Given the description of an element on the screen output the (x, y) to click on. 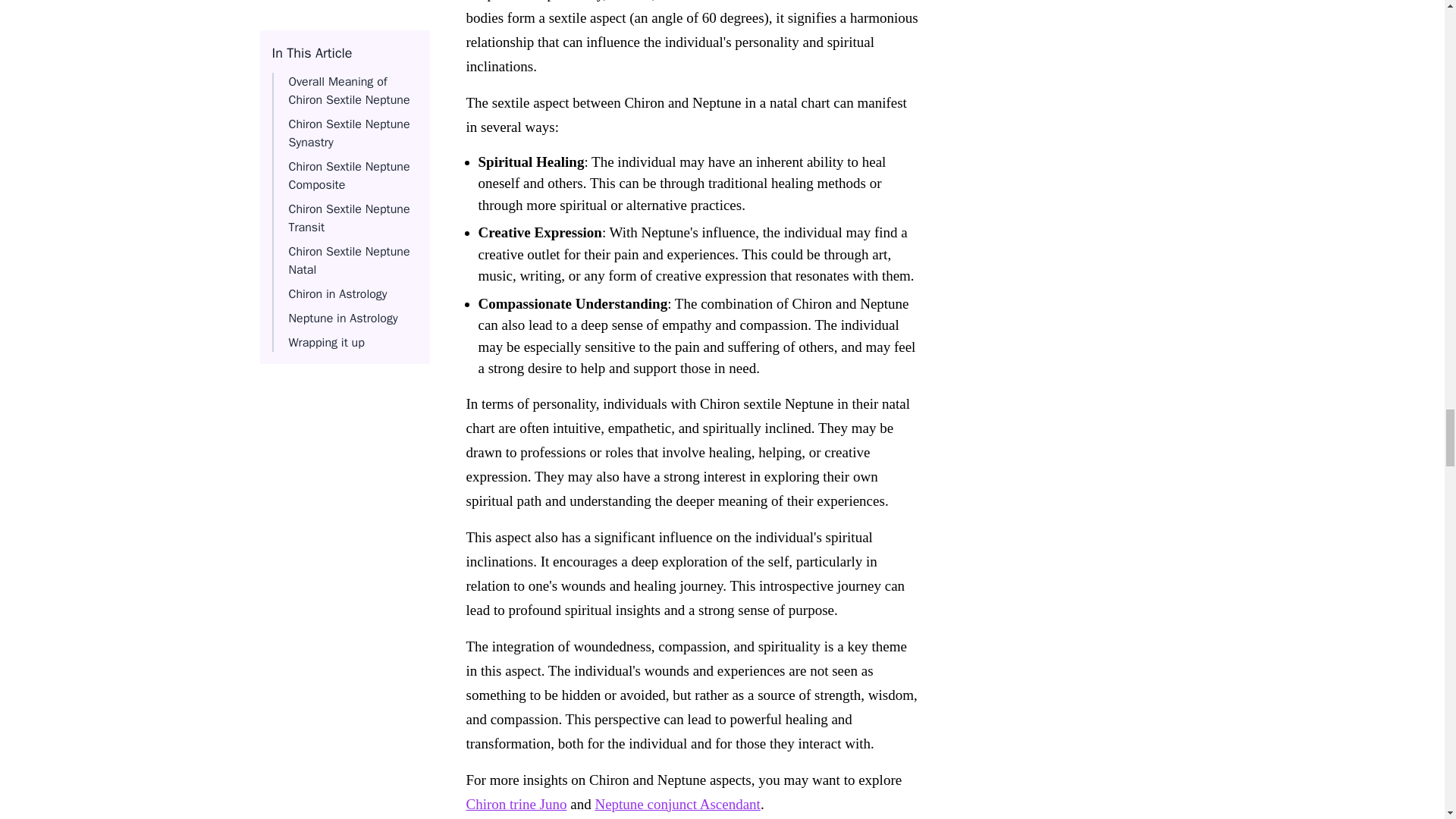
Neptune conjunct Ascendant (677, 804)
Chiron trine Juno (515, 804)
